Given the description of an element on the screen output the (x, y) to click on. 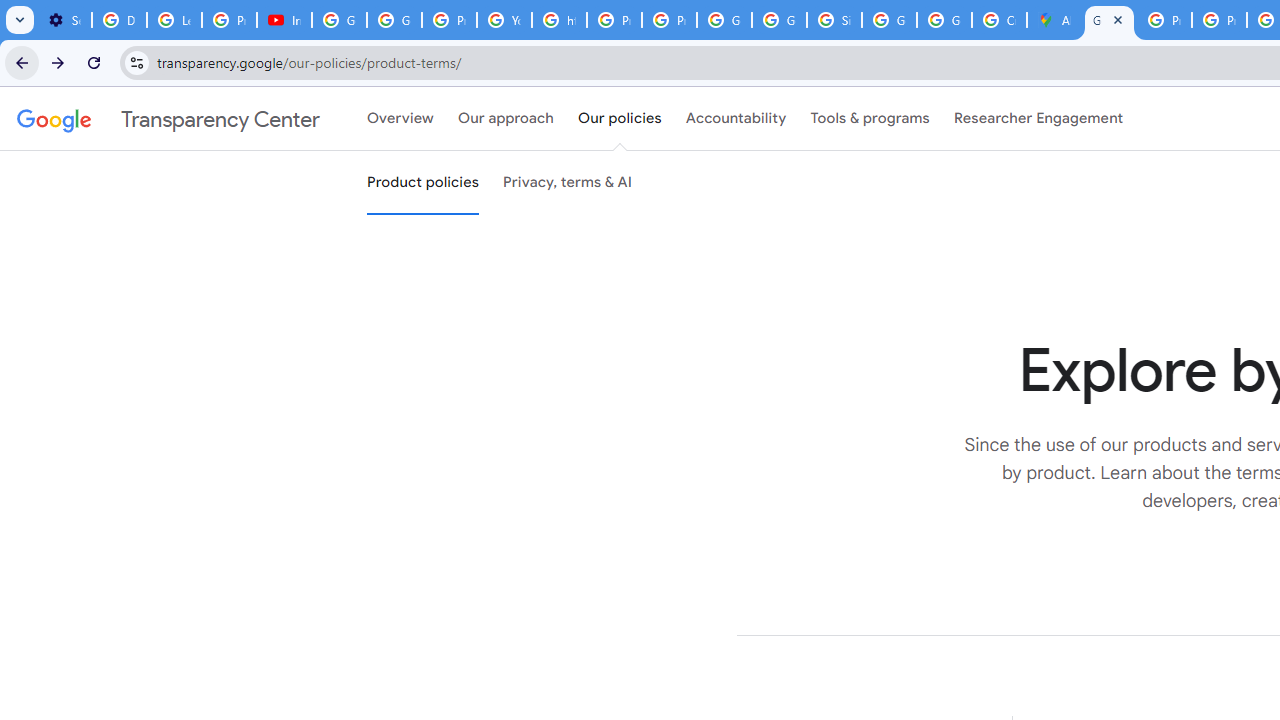
Our policies (619, 119)
Introduction | Google Privacy Policy - YouTube (284, 20)
Settings - Performance (64, 20)
Delete photos & videos - Computer - Google Photos Help (119, 20)
